Given the description of an element on the screen output the (x, y) to click on. 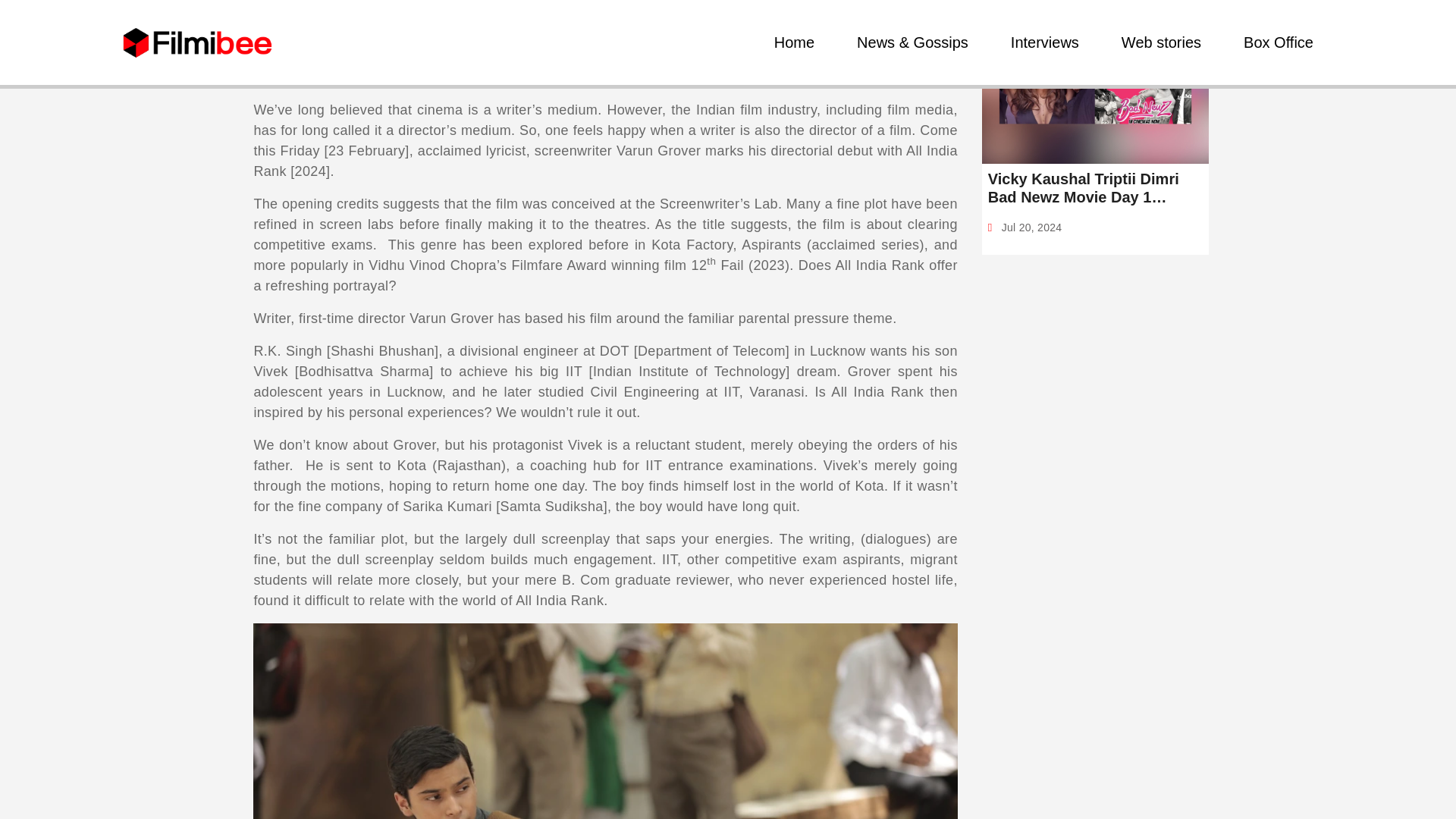
Vicky Kaushal Triptii Dimri Bad Newz Movie Day 1 Collection (1095, 187)
